Given the description of an element on the screen output the (x, y) to click on. 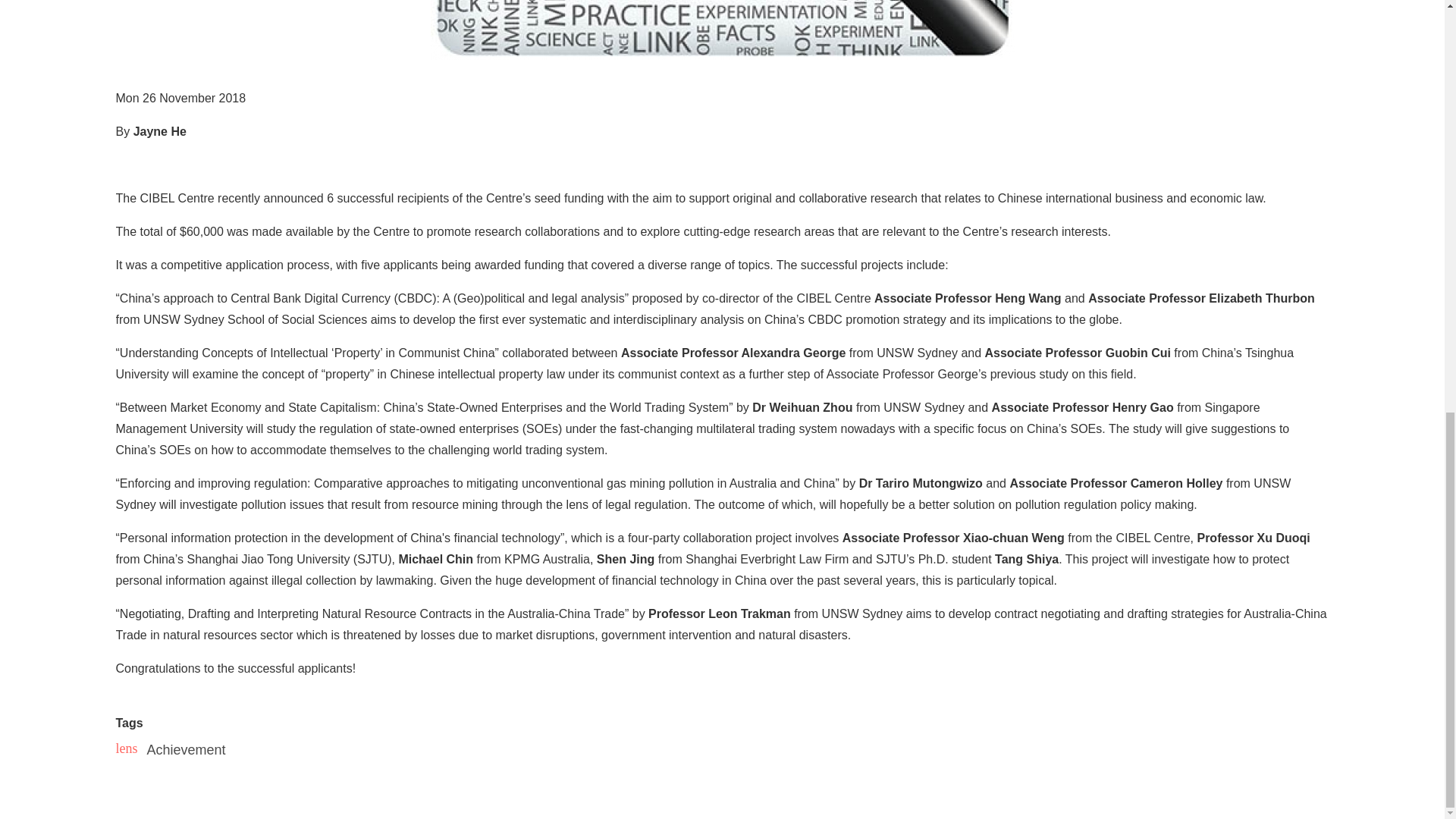
Achievement (186, 750)
